Given the description of an element on the screen output the (x, y) to click on. 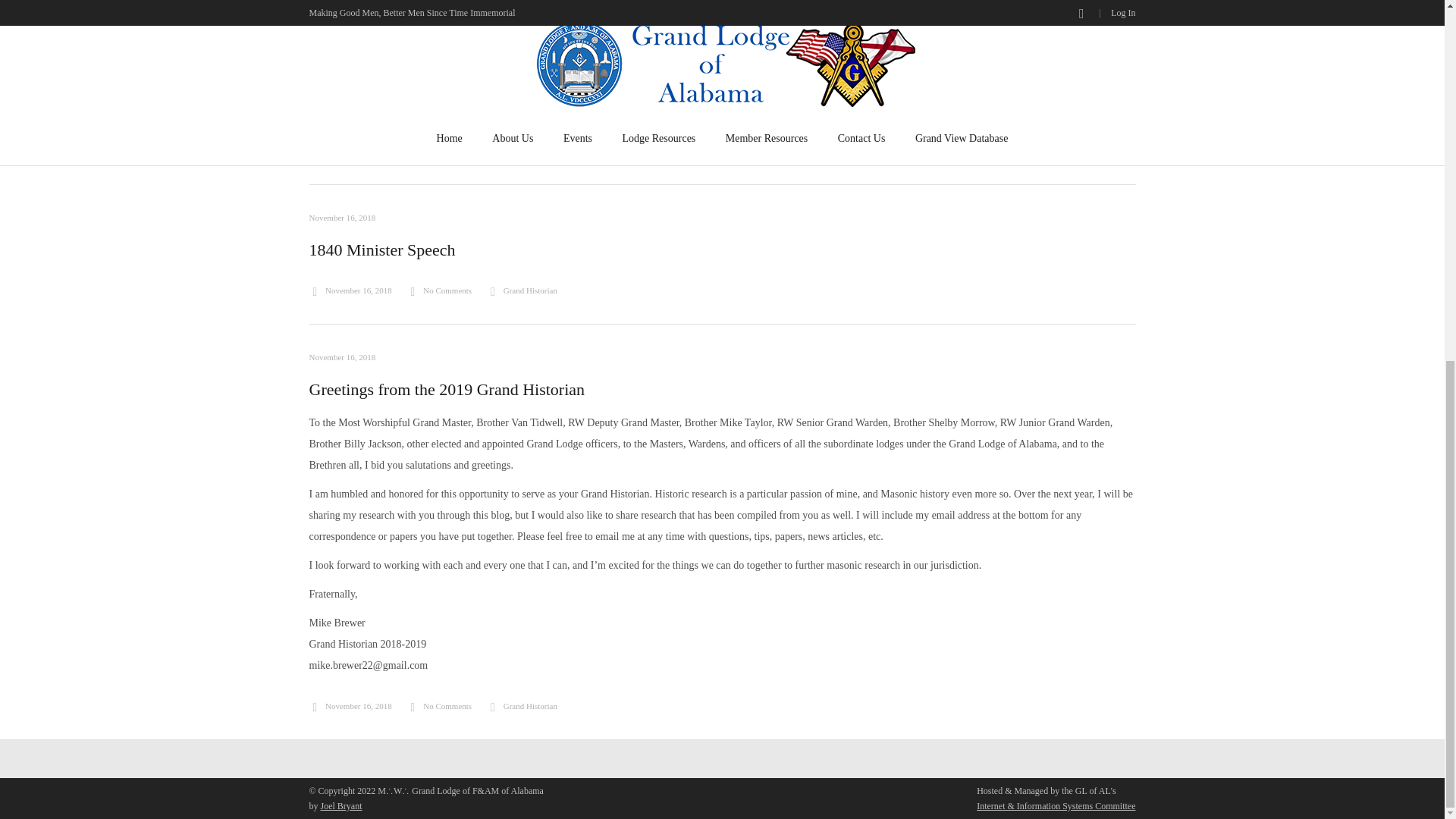
View all posts from November (349, 289)
View all posts from November (341, 216)
No Comments (439, 289)
View all posts from November (349, 150)
No Comments (439, 150)
View all posts from November (341, 356)
View all posts from November (349, 705)
No Comments (439, 705)
